Given the description of an element on the screen output the (x, y) to click on. 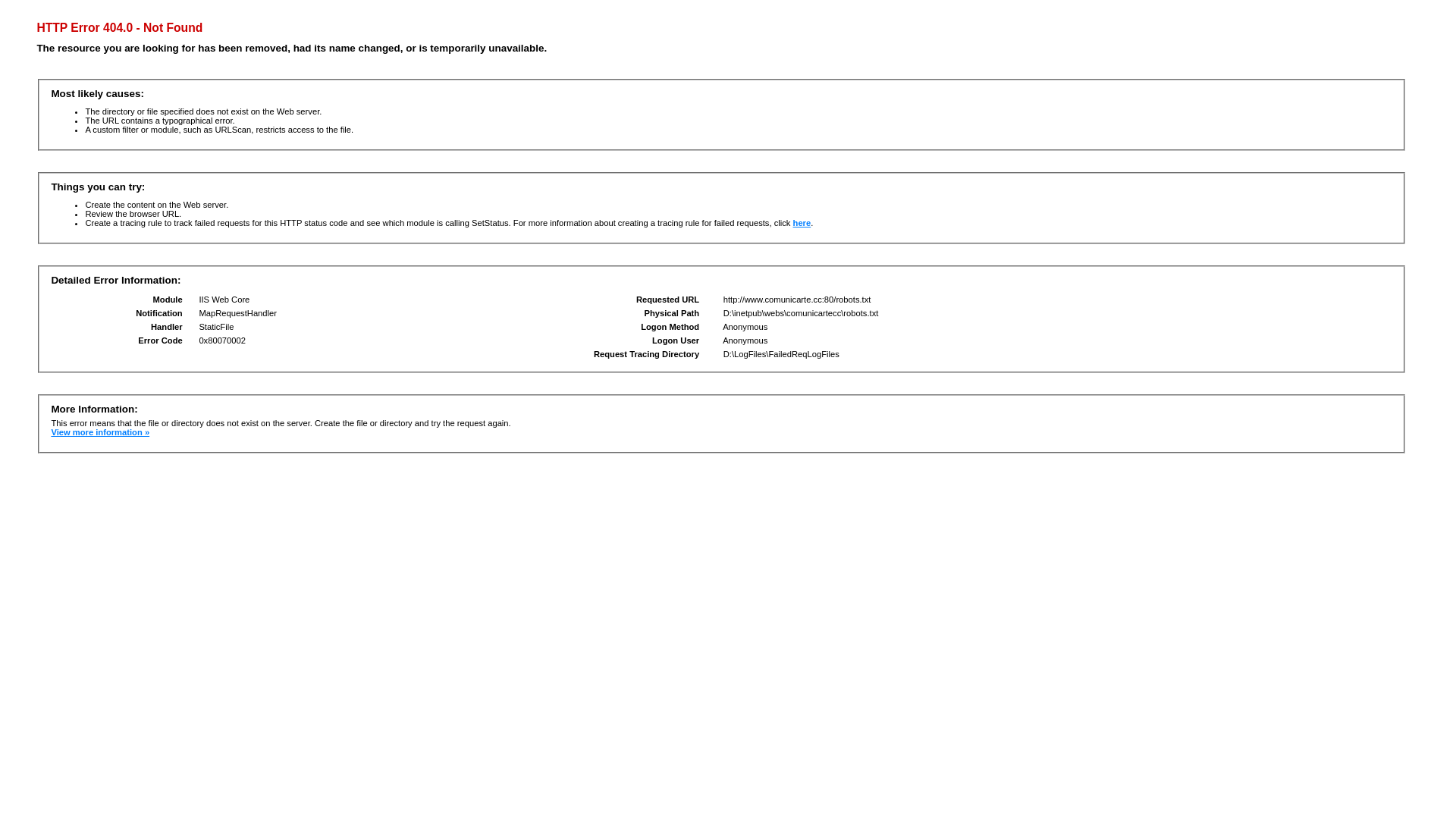
here Element type: text (802, 222)
